Given the description of an element on the screen output the (x, y) to click on. 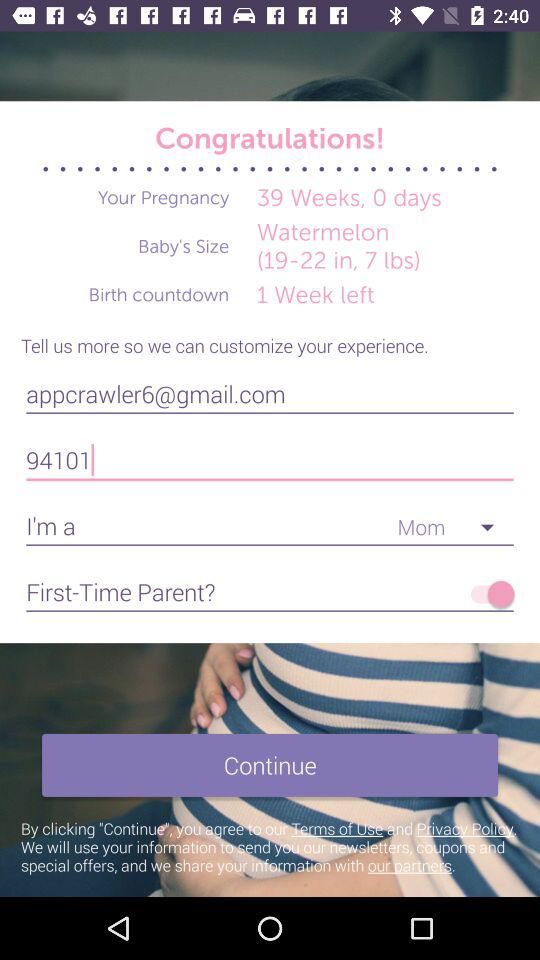
turn on the by clicking continue icon (270, 846)
